Given the description of an element on the screen output the (x, y) to click on. 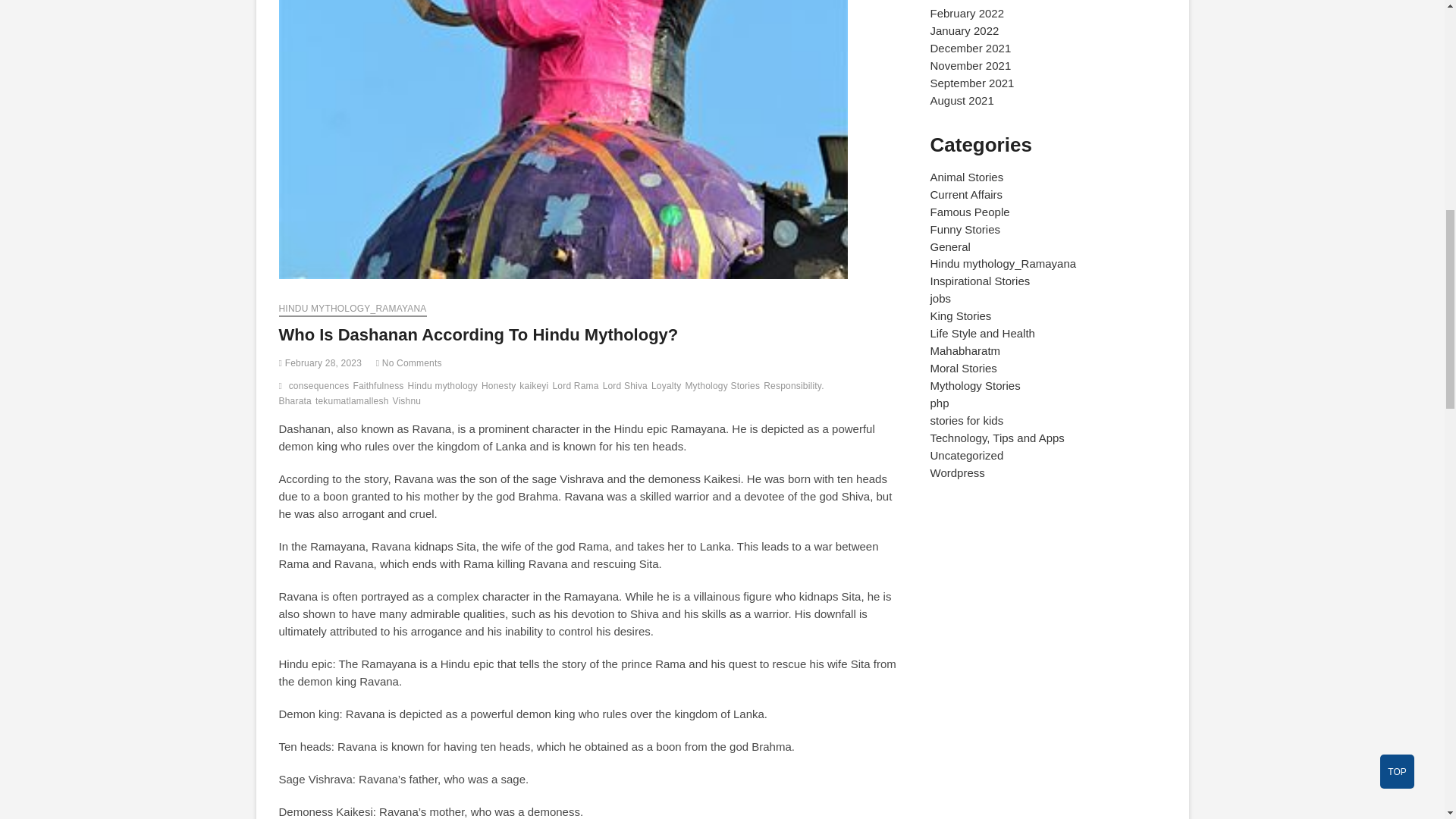
February 28, 2023 (320, 362)
Technology, Tips and Apps (997, 437)
General (949, 245)
Life Style and Health (981, 332)
